Given the description of an element on the screen output the (x, y) to click on. 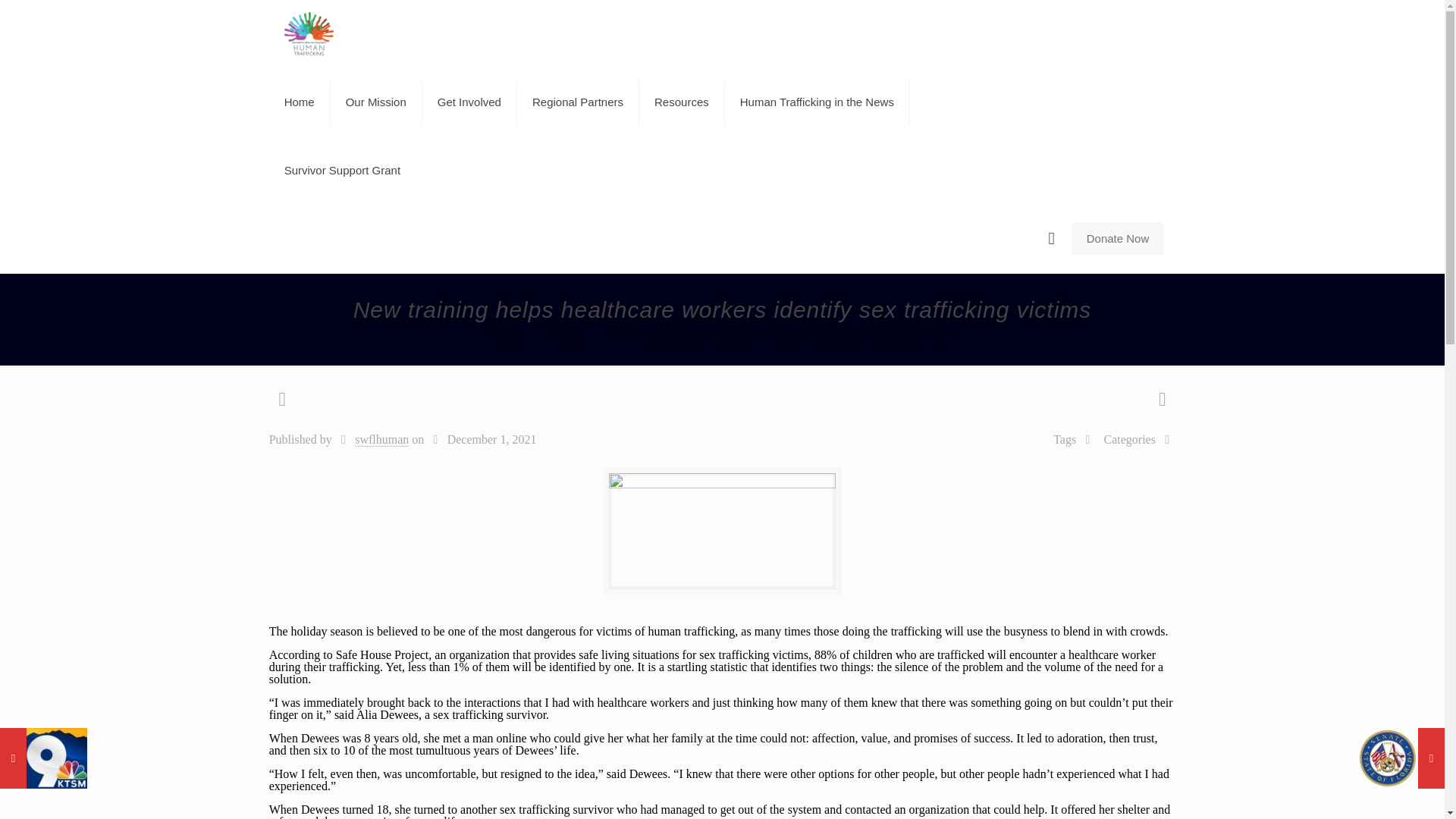
Our Mission (376, 102)
Home (504, 336)
Home (299, 102)
Donate Now (1117, 237)
swflhuman (382, 439)
Survivor Support Grant (341, 170)
Get Involved (469, 102)
Blog (566, 336)
Human Trafficking in the News (817, 102)
Resources (682, 102)
